Given the description of an element on the screen output the (x, y) to click on. 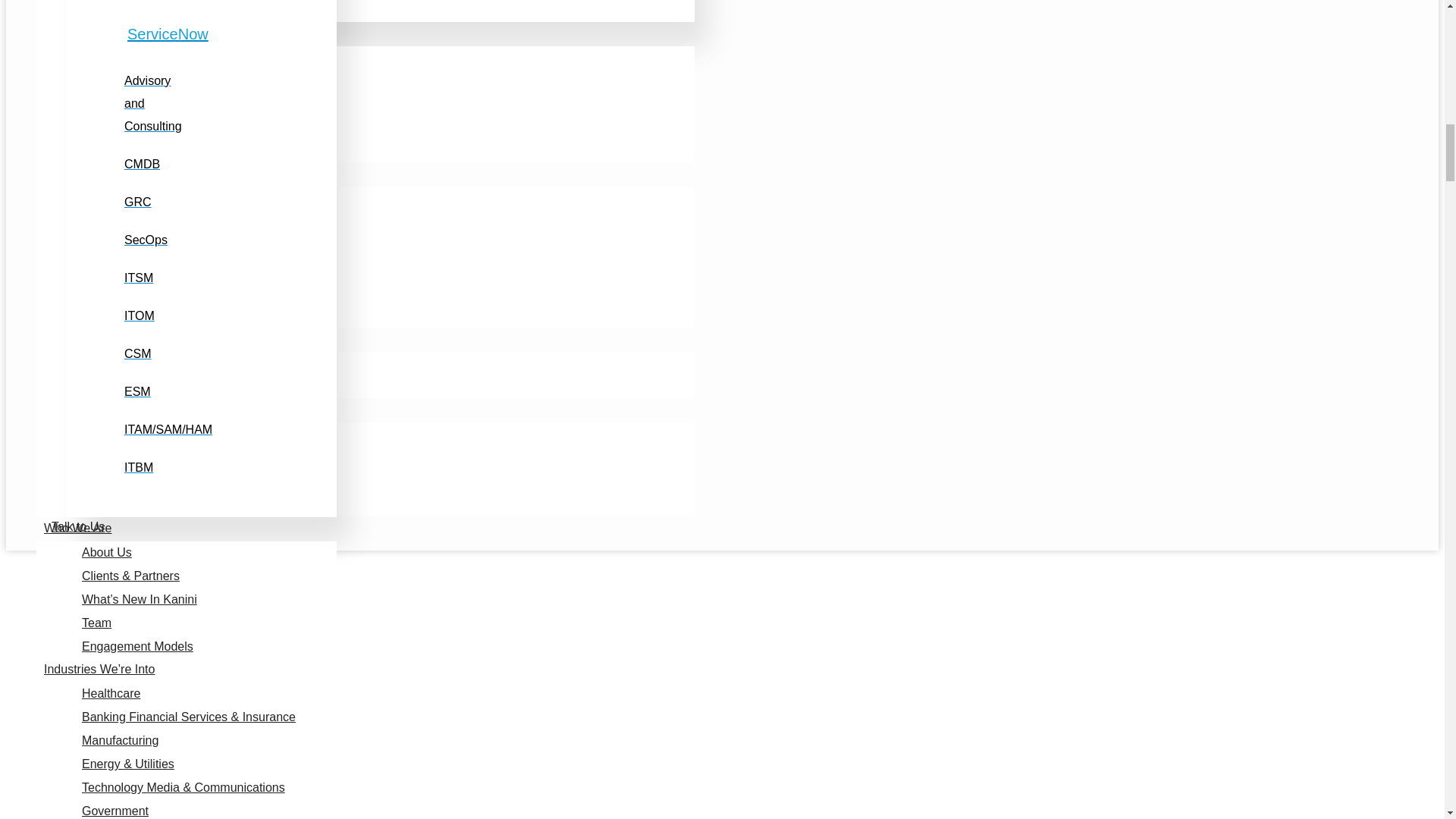
ITOM (138, 315)
SecOps (145, 239)
Advisory and Consulting (152, 103)
ITSM (137, 277)
Who We Are (77, 528)
CMDB (141, 164)
GRC (137, 201)
About Us (106, 552)
ESM (137, 391)
ITBM (137, 467)
